Given the description of an element on the screen output the (x, y) to click on. 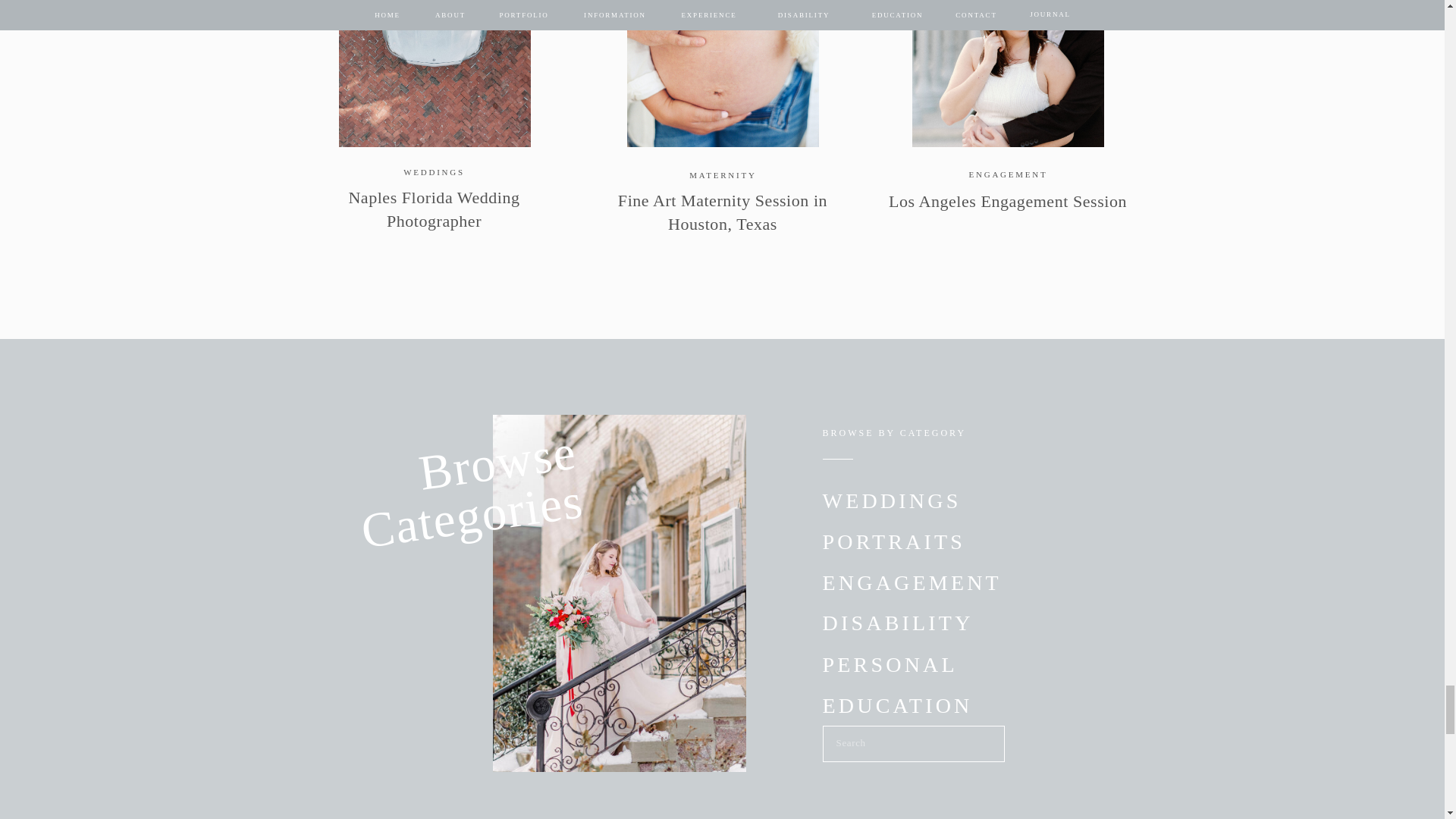
Los Angeles Engagement Session (1007, 73)
Naples Florida Wedding Photographer (433, 73)
